Given the description of an element on the screen output the (x, y) to click on. 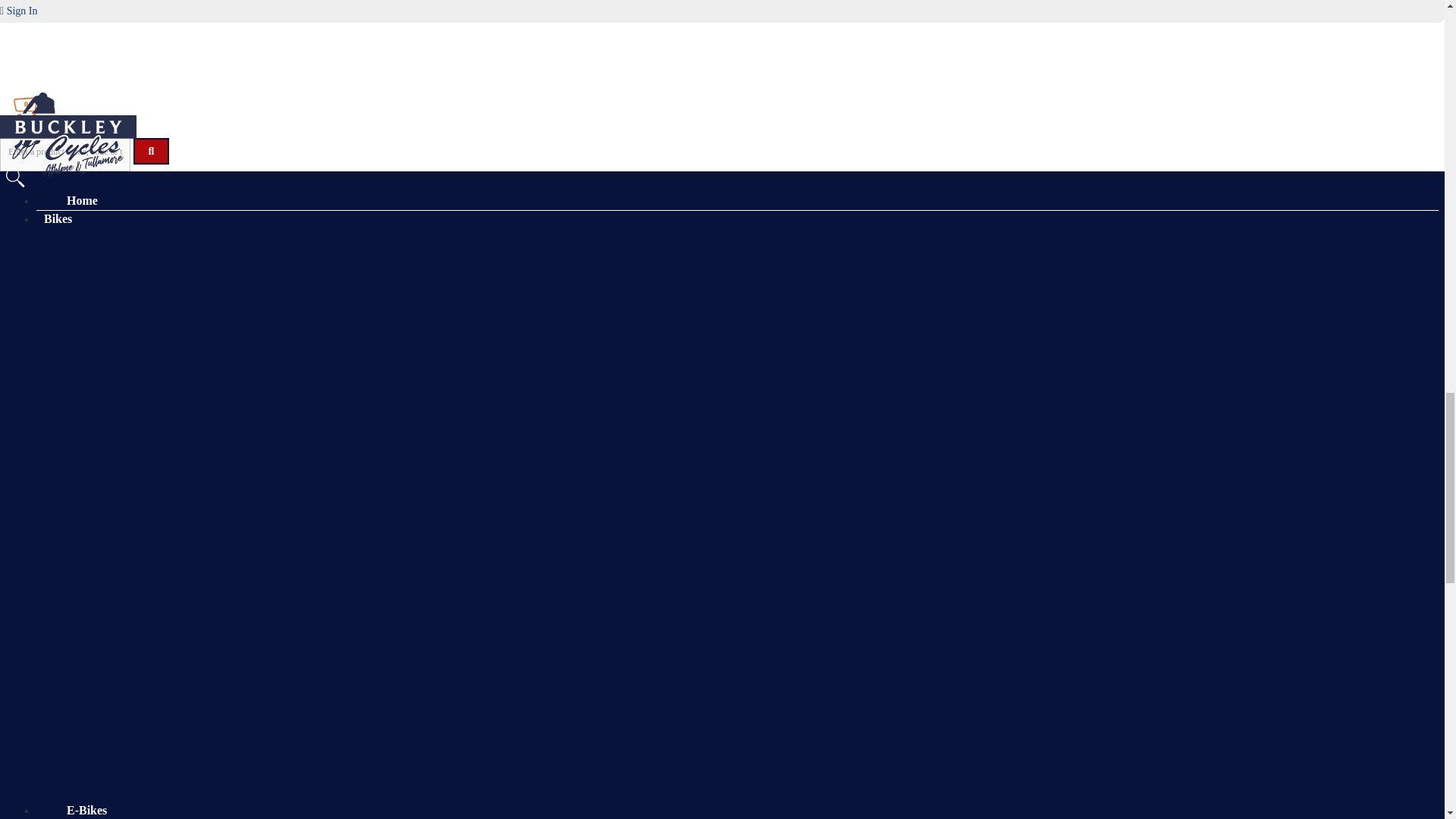
1 (59, 100)
